Given the description of an element on the screen output the (x, y) to click on. 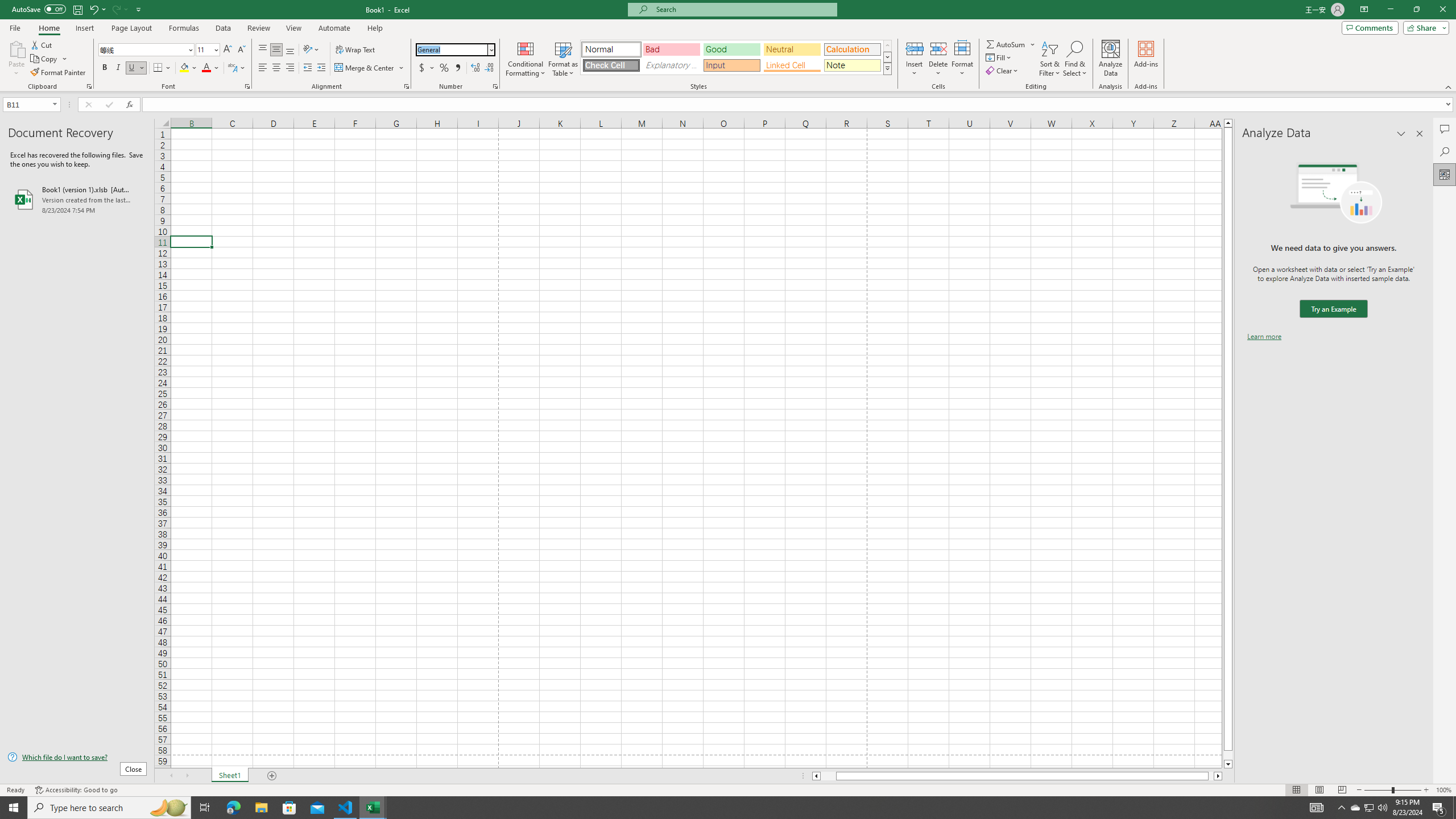
Fill Color RGB(255, 255, 0) (183, 67)
Format Cell Font (247, 85)
Find & Select (1075, 58)
Underline (131, 67)
Fill (999, 56)
Cell Styles (887, 68)
Sort & Filter (1049, 58)
Office Clipboard... (88, 85)
